Given the description of an element on the screen output the (x, y) to click on. 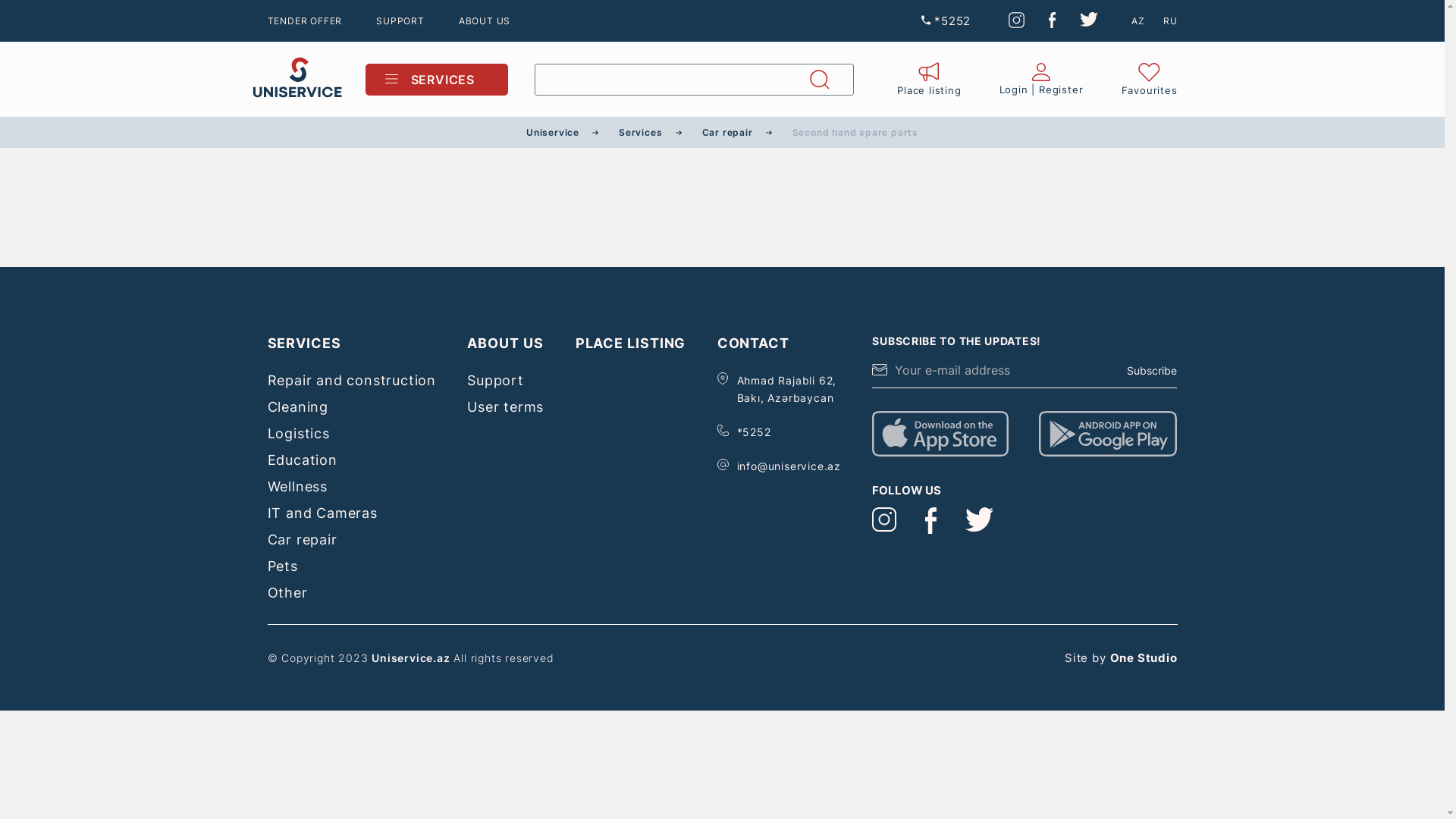
Pets Element type: text (281, 566)
Wellness Element type: text (296, 486)
One Studio Element type: text (1143, 657)
Other Element type: text (286, 592)
RU Element type: text (1170, 20)
Uniservice Element type: text (552, 132)
ABOUT US Element type: text (484, 20)
Services Element type: text (640, 132)
Place listing Element type: text (928, 79)
Favourites Element type: text (1148, 78)
info@uniservice.az Element type: text (788, 465)
SUPPORT Element type: text (400, 20)
SERVICES Element type: text (436, 79)
TENDER OFFER Element type: text (304, 20)
Car repair Element type: text (301, 539)
ABOUT US Element type: text (504, 343)
Repair and construction Element type: text (350, 380)
*5252 Element type: text (945, 20)
IT and Cameras Element type: text (321, 512)
User terms Element type: text (505, 406)
Subscribe Element type: text (1151, 370)
Logistics Element type: text (297, 433)
Login | Register Element type: text (1041, 78)
Support Element type: text (495, 380)
AZ Element type: text (1138, 20)
Car repair Element type: text (727, 132)
Cleaning Element type: text (296, 406)
*5252 Element type: text (754, 431)
PLACE LISTING Element type: text (630, 343)
SERVICES Element type: text (303, 343)
Education Element type: text (301, 459)
